Given the description of an element on the screen output the (x, y) to click on. 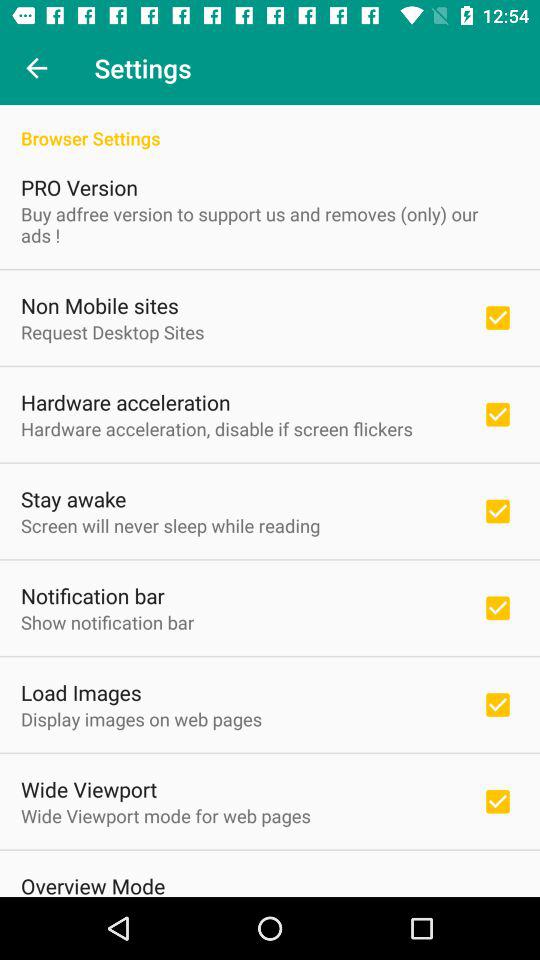
tap item above request desktop sites (99, 305)
